Given the description of an element on the screen output the (x, y) to click on. 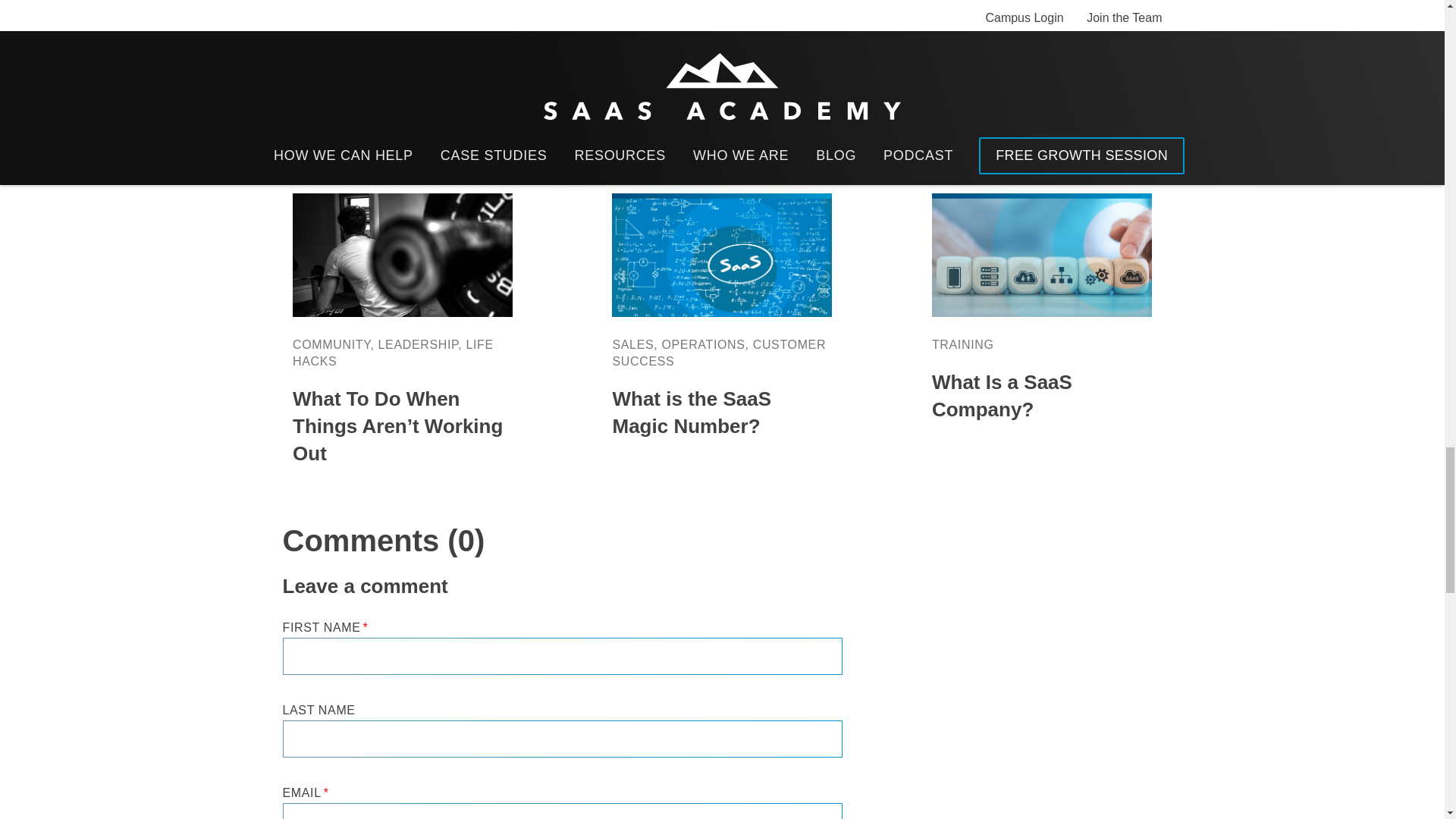
JOIN NOW (249, 1)
Join Now (249, 1)
